Given the description of an element on the screen output the (x, y) to click on. 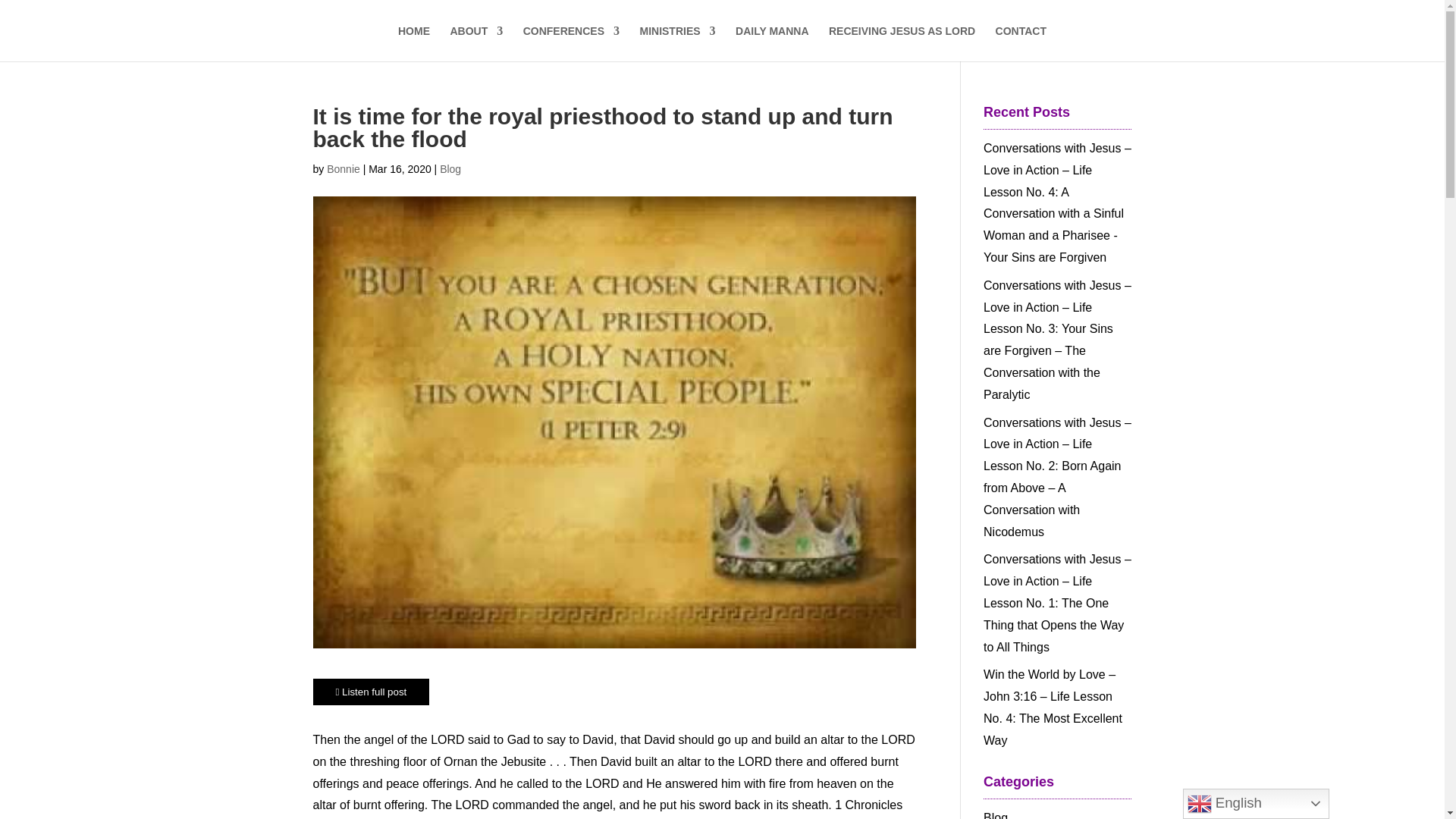
ABOUT (475, 43)
MINISTRIES (676, 43)
HOME (413, 43)
RECEIVING JESUS AS LORD (901, 43)
Blog (450, 168)
Bonnie (342, 168)
Posts by Bonnie (342, 168)
DAILY MANNA (771, 43)
CONTACT (1020, 43)
CONFERENCES (571, 43)
